Given the description of an element on the screen output the (x, y) to click on. 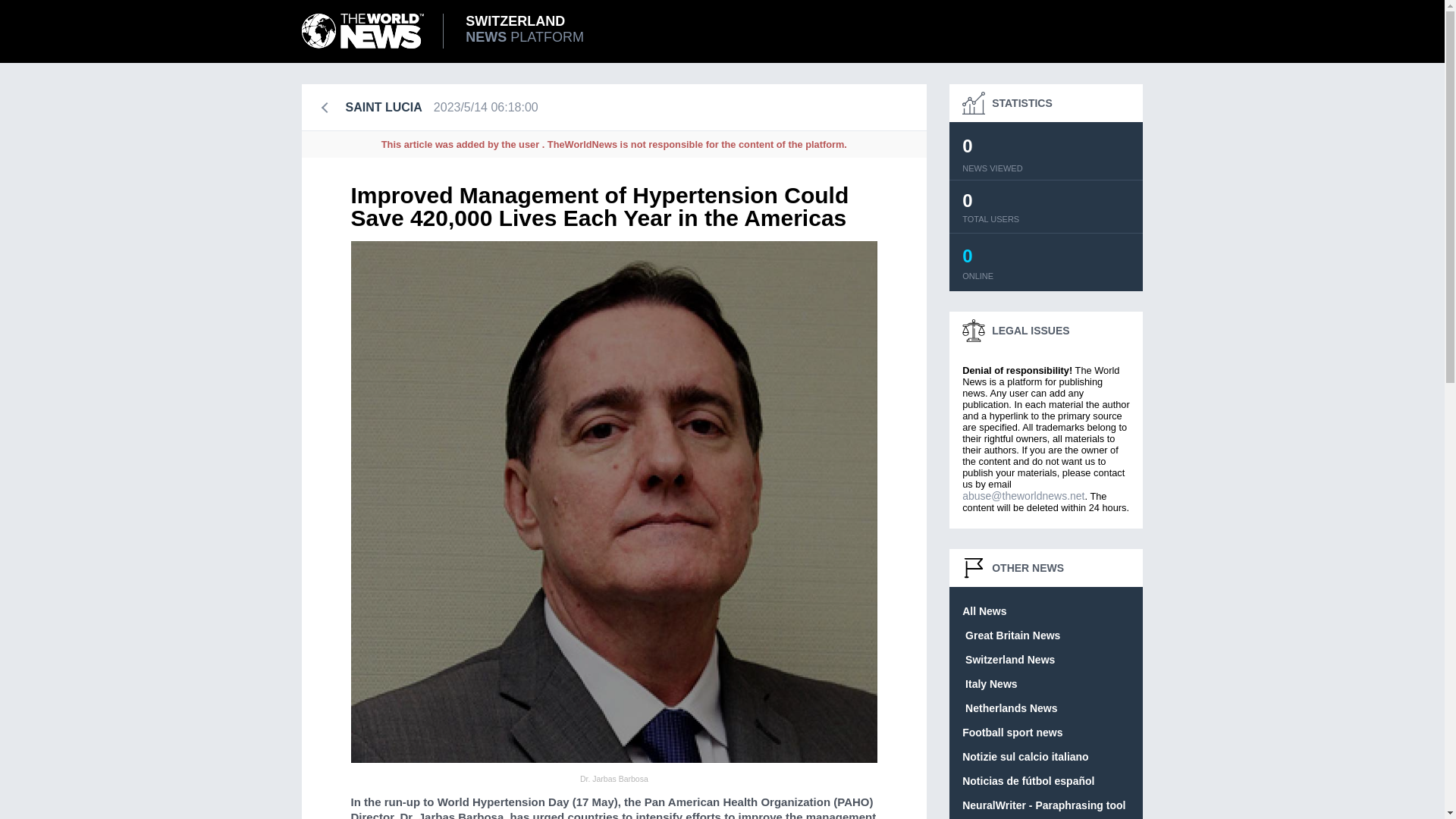
Netherlands News (1009, 708)
Great Britain News (1010, 635)
All News (984, 611)
Italy News (989, 683)
Football sport news (454, 30)
Switzerland News (1012, 732)
Notizie sul calcio italiano (1008, 659)
NeuralWriter - Paraphrasing tool (1024, 756)
